Given the description of an element on the screen output the (x, y) to click on. 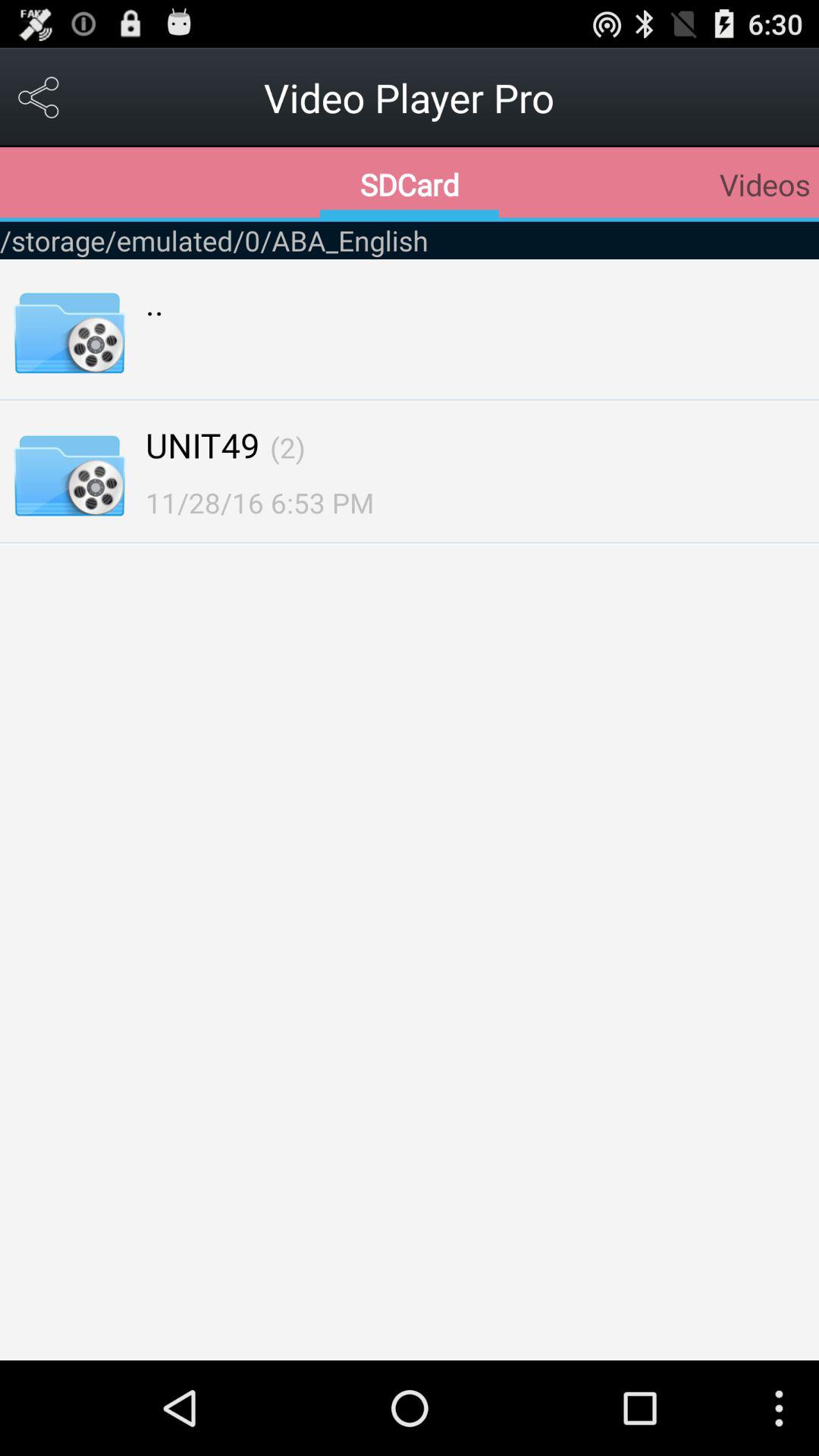
turn off item next to video player pro (39, 97)
